Given the description of an element on the screen output the (x, y) to click on. 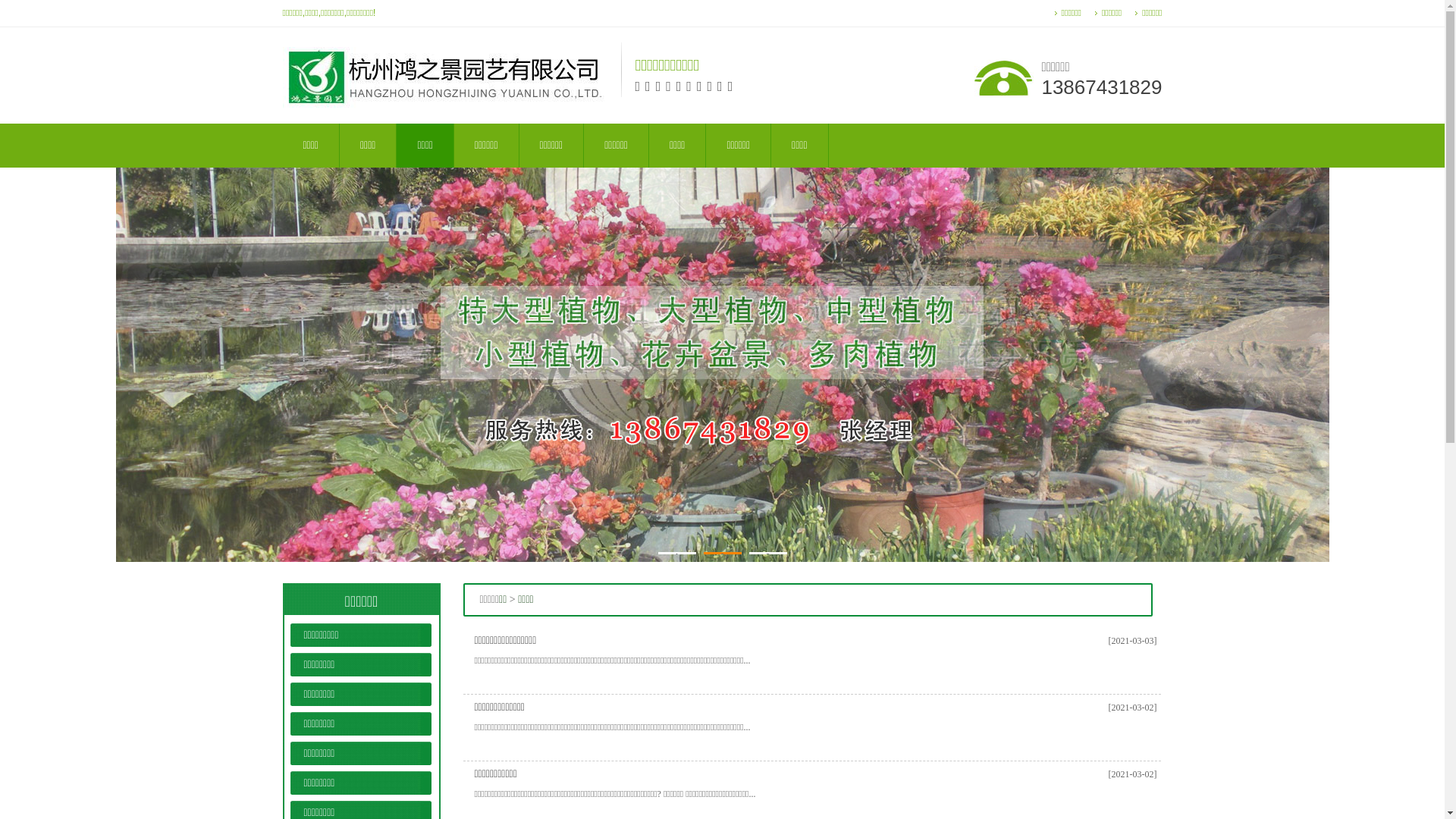
3 Element type: text (768, 553)
2 Element type: text (722, 553)
1 Element type: text (677, 553)
